Given the description of an element on the screen output the (x, y) to click on. 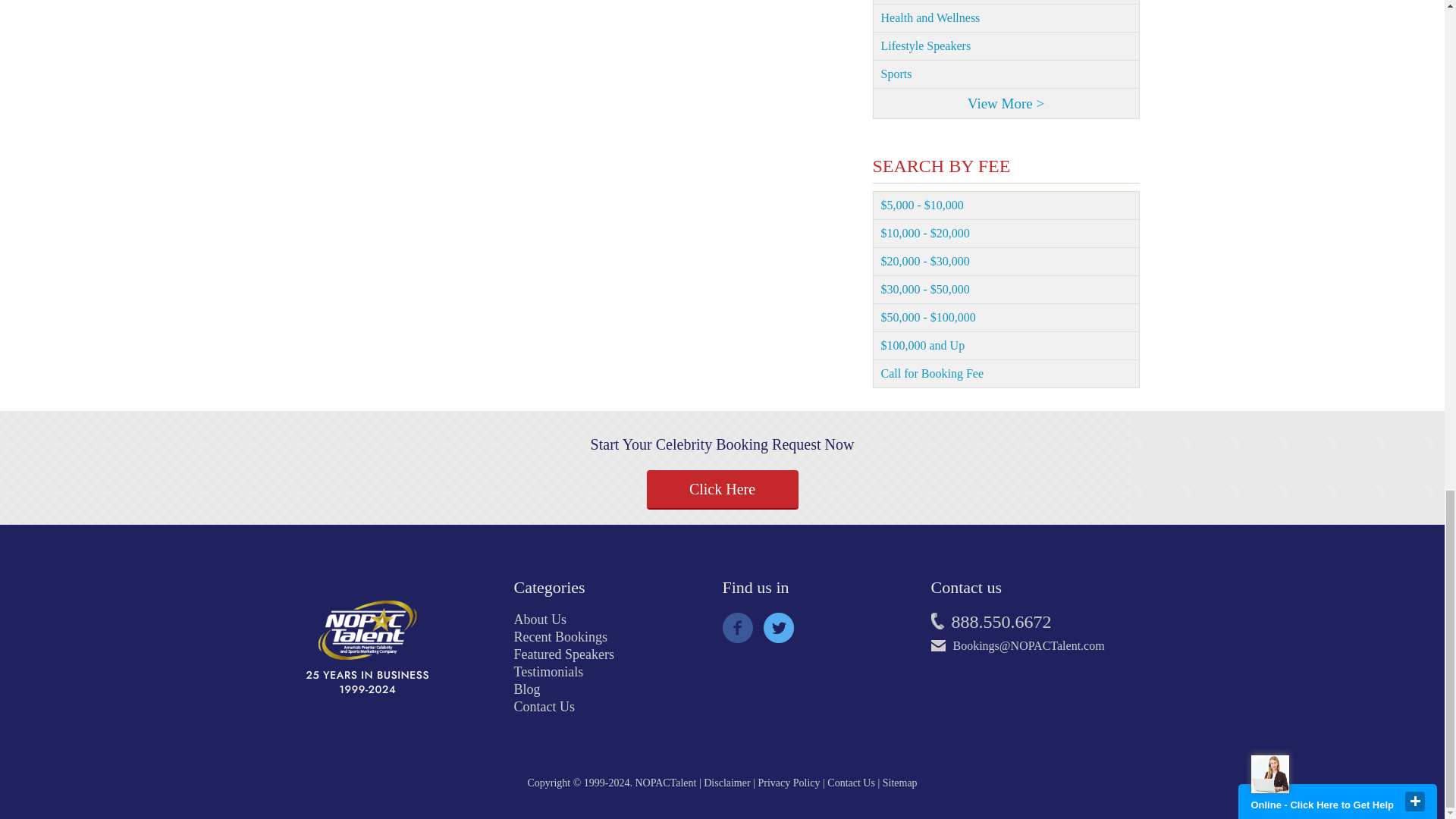
Lifestyle Speakers (1005, 46)
Health and Wellness (1005, 18)
Sports (1005, 74)
Entertainment (1005, 2)
